Given the description of an element on the screen output the (x, y) to click on. 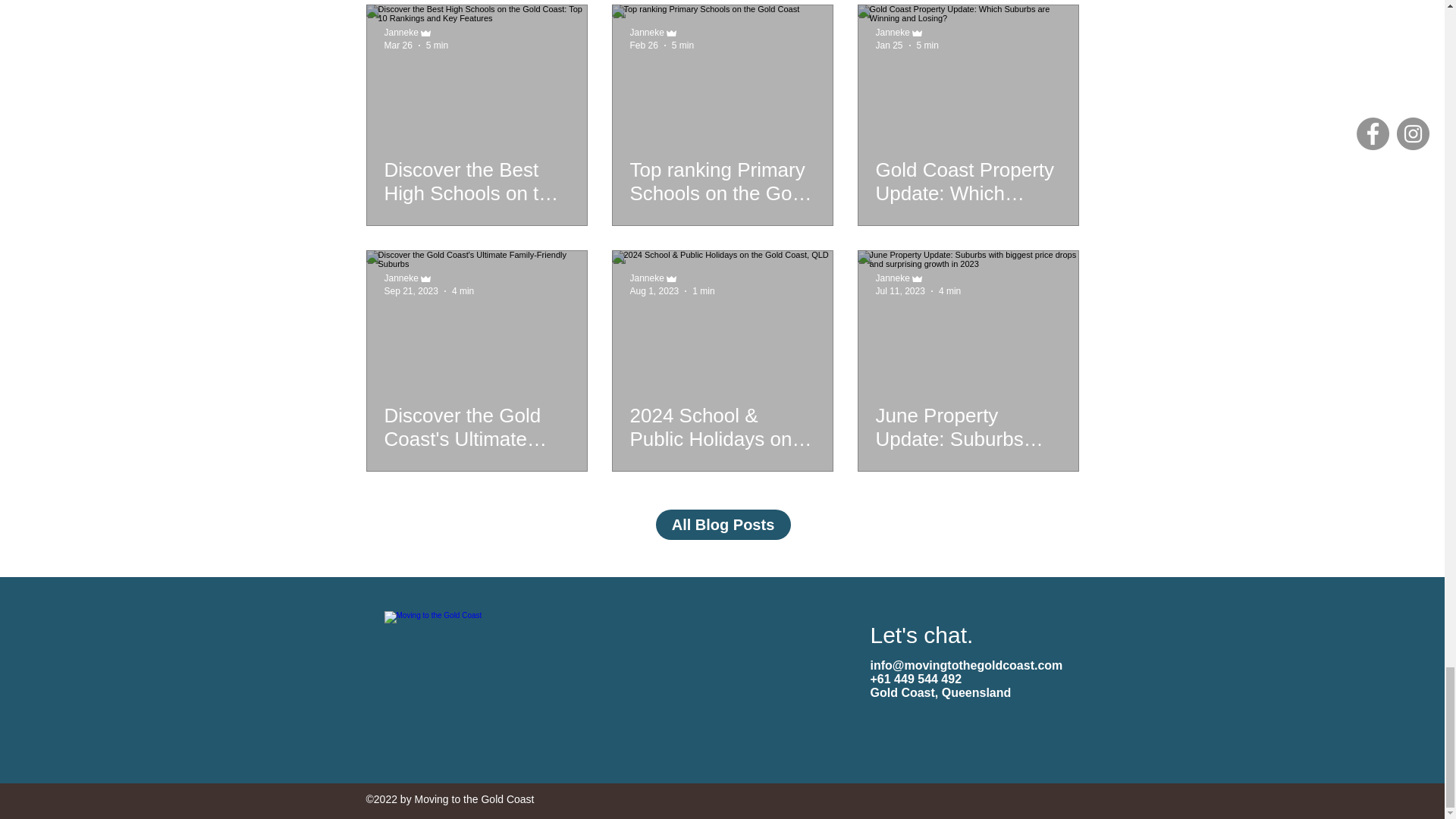
Janneke (400, 277)
Aug 1, 2023 (653, 290)
Mar 26 (398, 44)
Jul 11, 2023 (899, 290)
Feb 26 (643, 44)
4 min (462, 290)
Janneke (645, 32)
Janneke (645, 277)
Janneke (891, 277)
Janneke (891, 32)
